Given the description of an element on the screen output the (x, y) to click on. 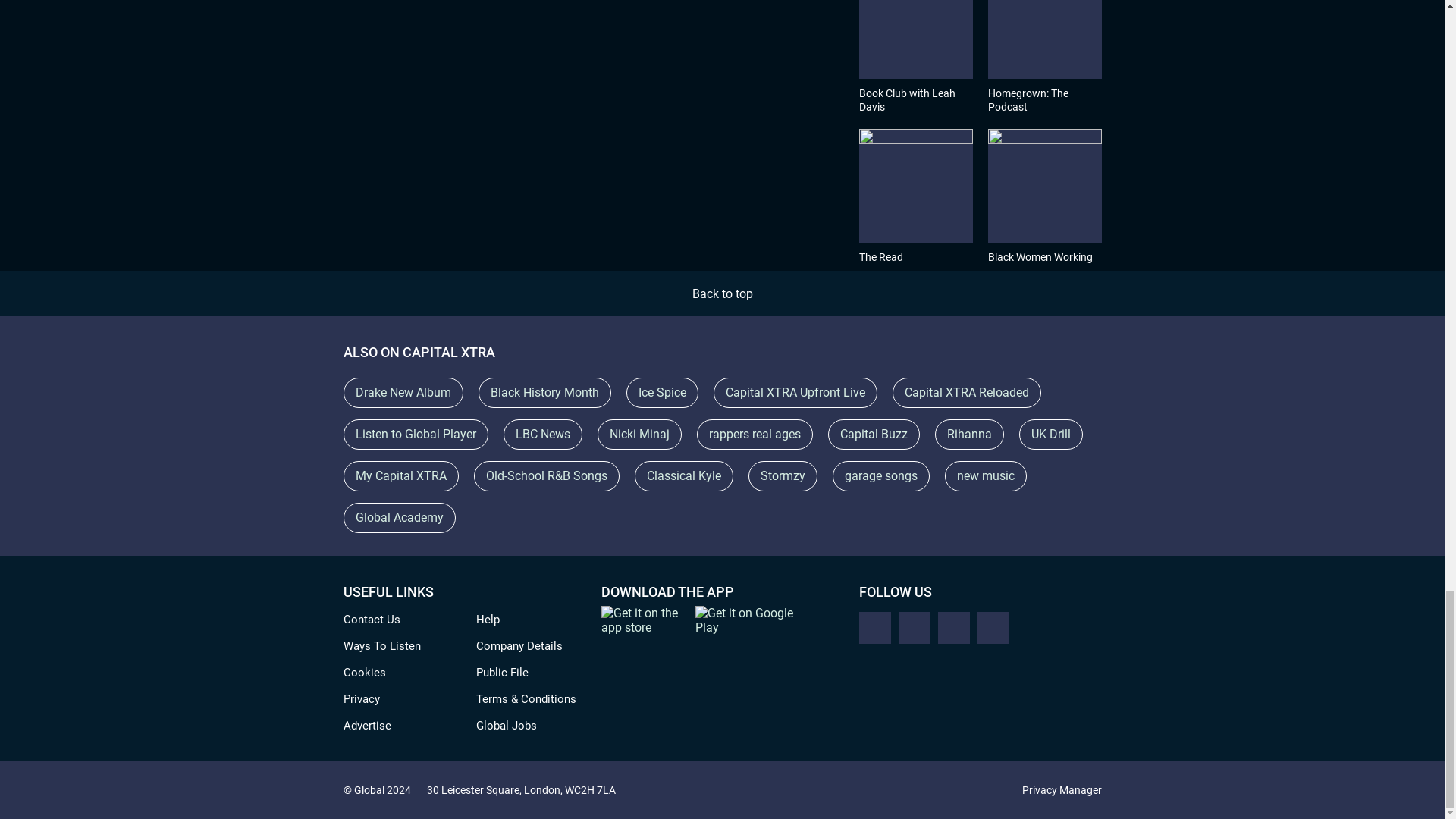
Follow CapitalXtra on Youtube (992, 627)
Follow CapitalXtra on X (874, 627)
Follow CapitalXtra on Facebook (914, 627)
Back to top (721, 293)
Follow CapitalXtra on Instagram (953, 627)
